Given the description of an element on the screen output the (x, y) to click on. 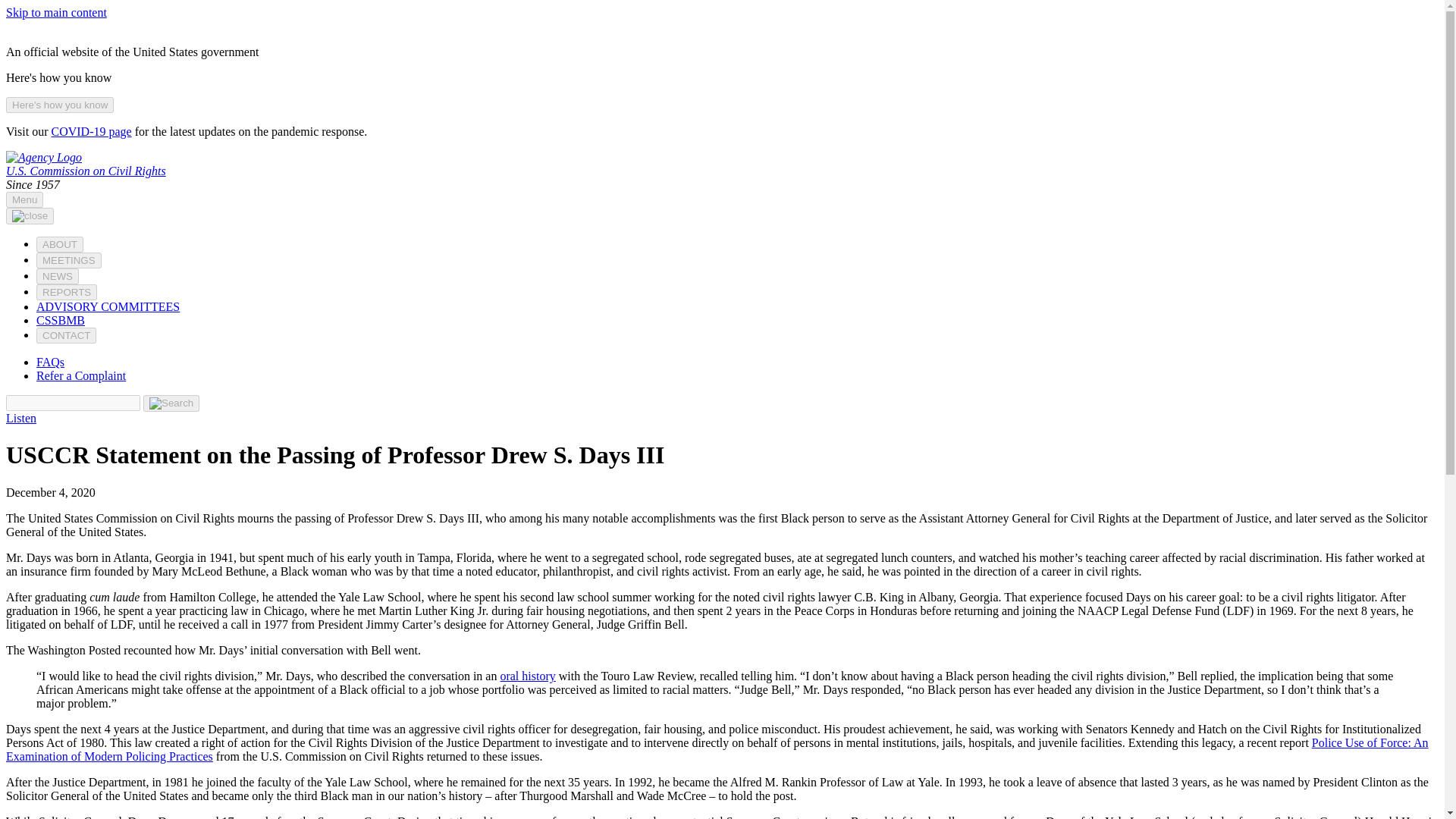
U.S. Commission on Civil Rights (85, 170)
CSSBMB (60, 319)
Here's how you know (59, 105)
Refer a Complaint (80, 375)
Commission on the Social Status of Black Men and Boys (60, 319)
FAQs (50, 361)
Skip to main content (55, 11)
Listen (20, 418)
NEWS (57, 276)
